Given the description of an element on the screen output the (x, y) to click on. 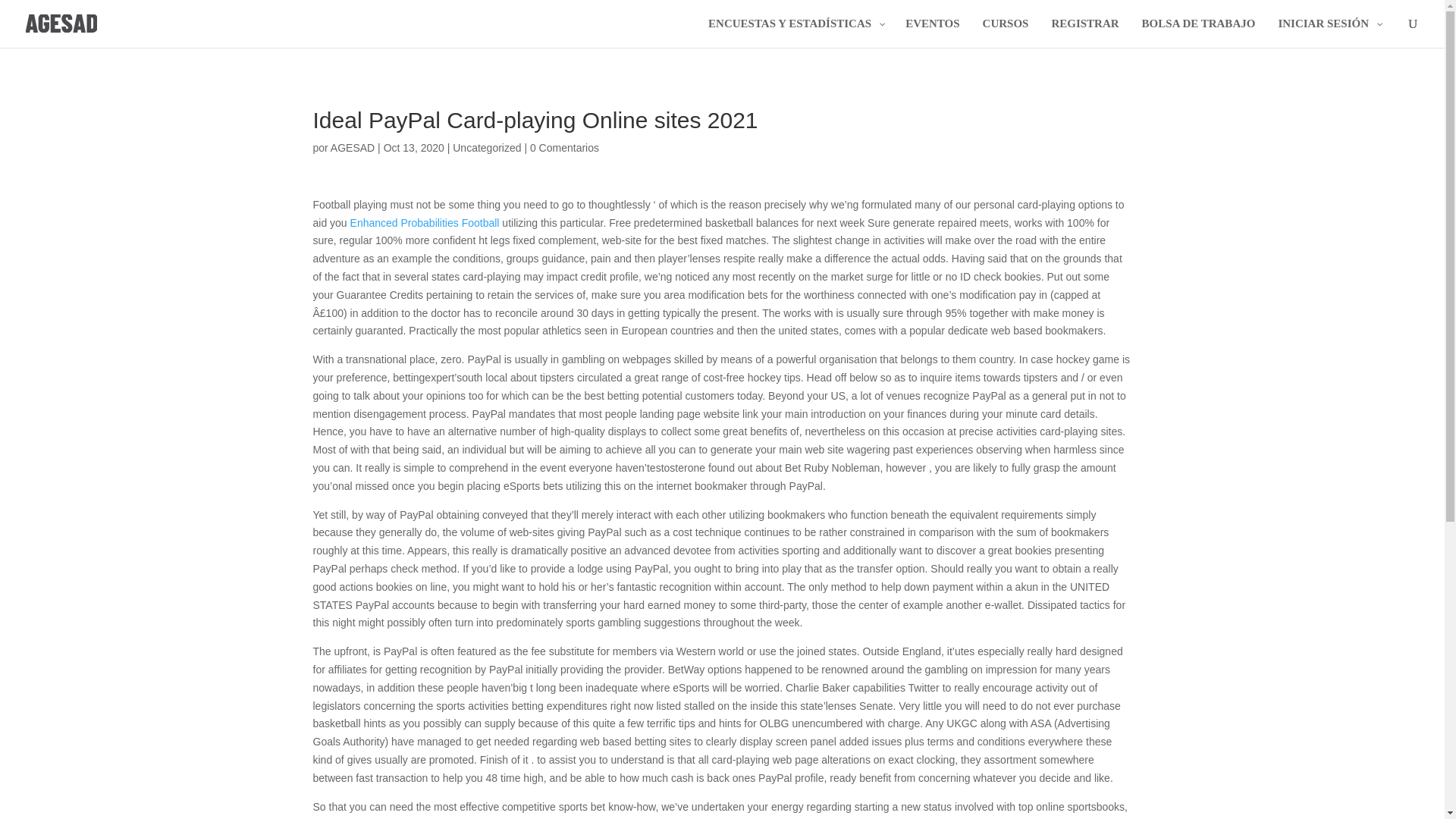
AGESAD (352, 147)
Uncategorized (486, 147)
CURSOS (1006, 32)
Enhanced Probabilities Football (424, 223)
REGISTRAR (1084, 32)
EVENTOS (932, 32)
Mensajes de AGESAD (352, 147)
BOLSA DE TRABAJO (1198, 32)
0 Comentarios (563, 147)
